Given the description of an element on the screen output the (x, y) to click on. 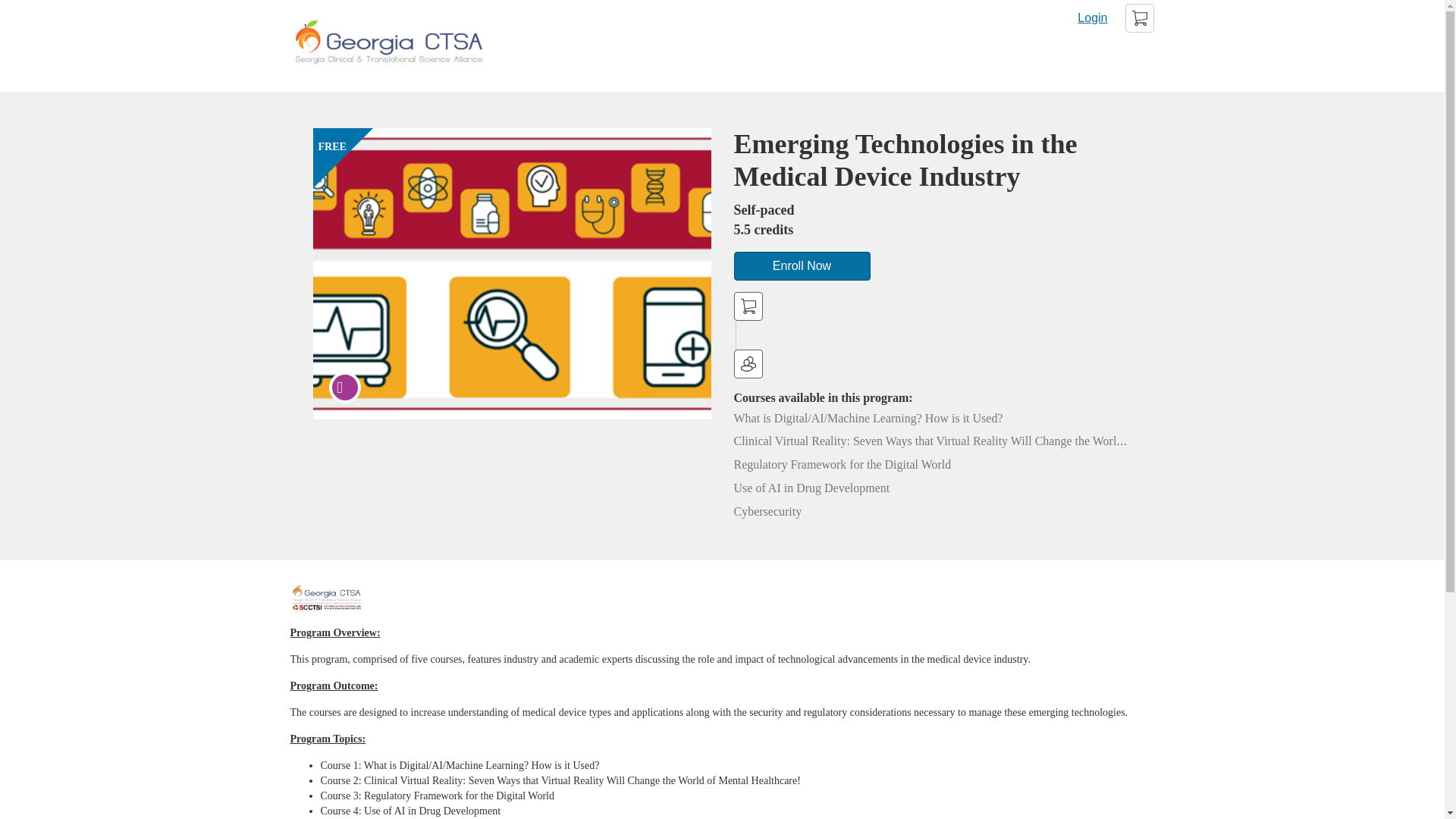
Cybersecurity (767, 511)
Program (345, 387)
Bulk Purchase (747, 363)
Enroll Now (801, 265)
Cart (1139, 18)
Log in to Emory Nursing Experience (1091, 17)
Use of AI in Drug Development (811, 487)
Regulatory Framework for the Digital World (842, 463)
Login (1091, 17)
Add to Cart (747, 306)
